Given the description of an element on the screen output the (x, y) to click on. 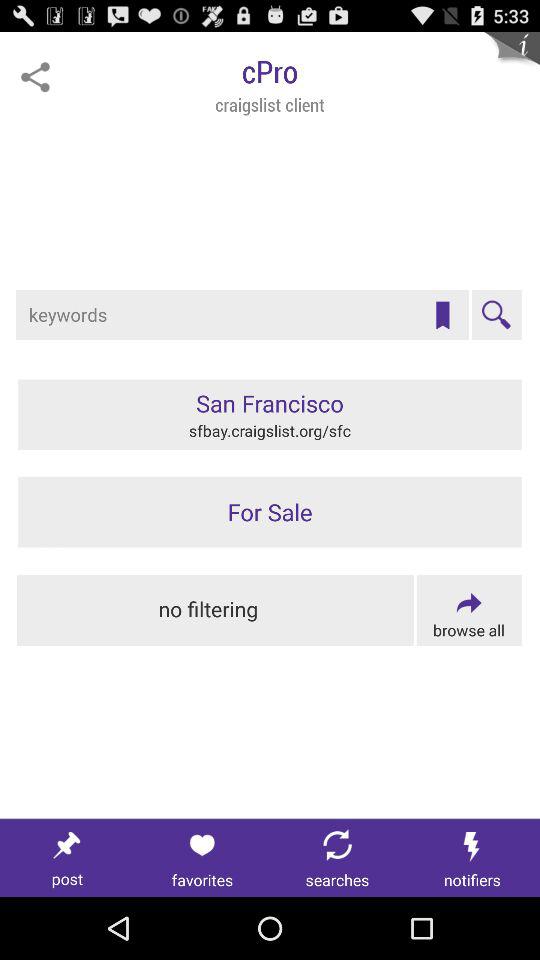
search (496, 315)
